Given the description of an element on the screen output the (x, y) to click on. 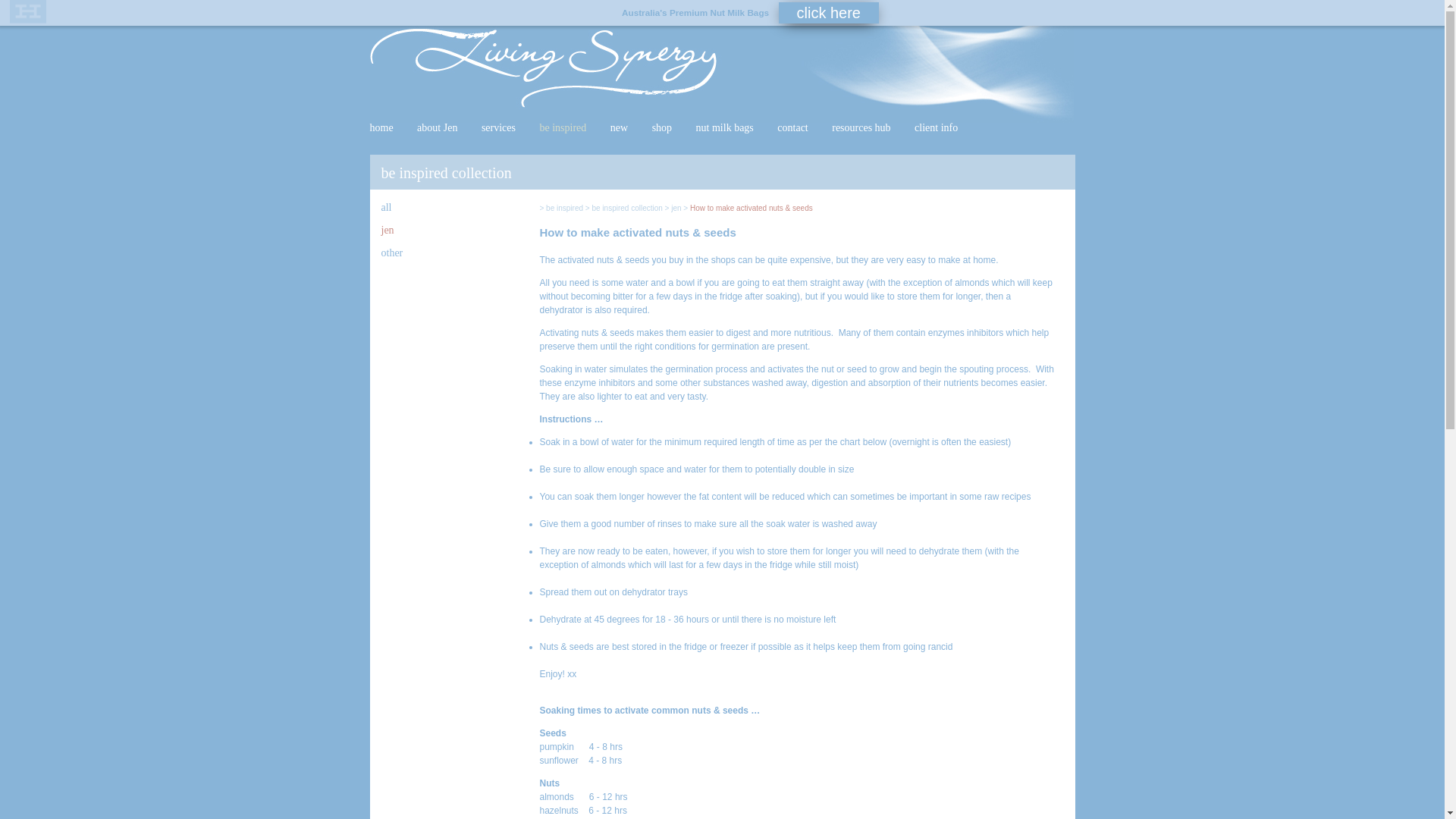
services Element type: text (498, 127)
client info Element type: text (935, 127)
about Jen Element type: text (437, 127)
shop Element type: text (661, 127)
jen Element type: text (386, 229)
home Element type: text (381, 127)
contact Element type: text (792, 127)
other Element type: text (391, 252)
> be inspired Element type: text (561, 207)
all Element type: text (385, 207)
jen > Element type: text (679, 207)
new Element type: text (618, 127)
be inspired Element type: text (562, 127)
> be inspired collection > Element type: text (625, 207)
resources hub Element type: text (860, 127)
nut milk bags Element type: text (724, 127)
